Given the description of an element on the screen output the (x, y) to click on. 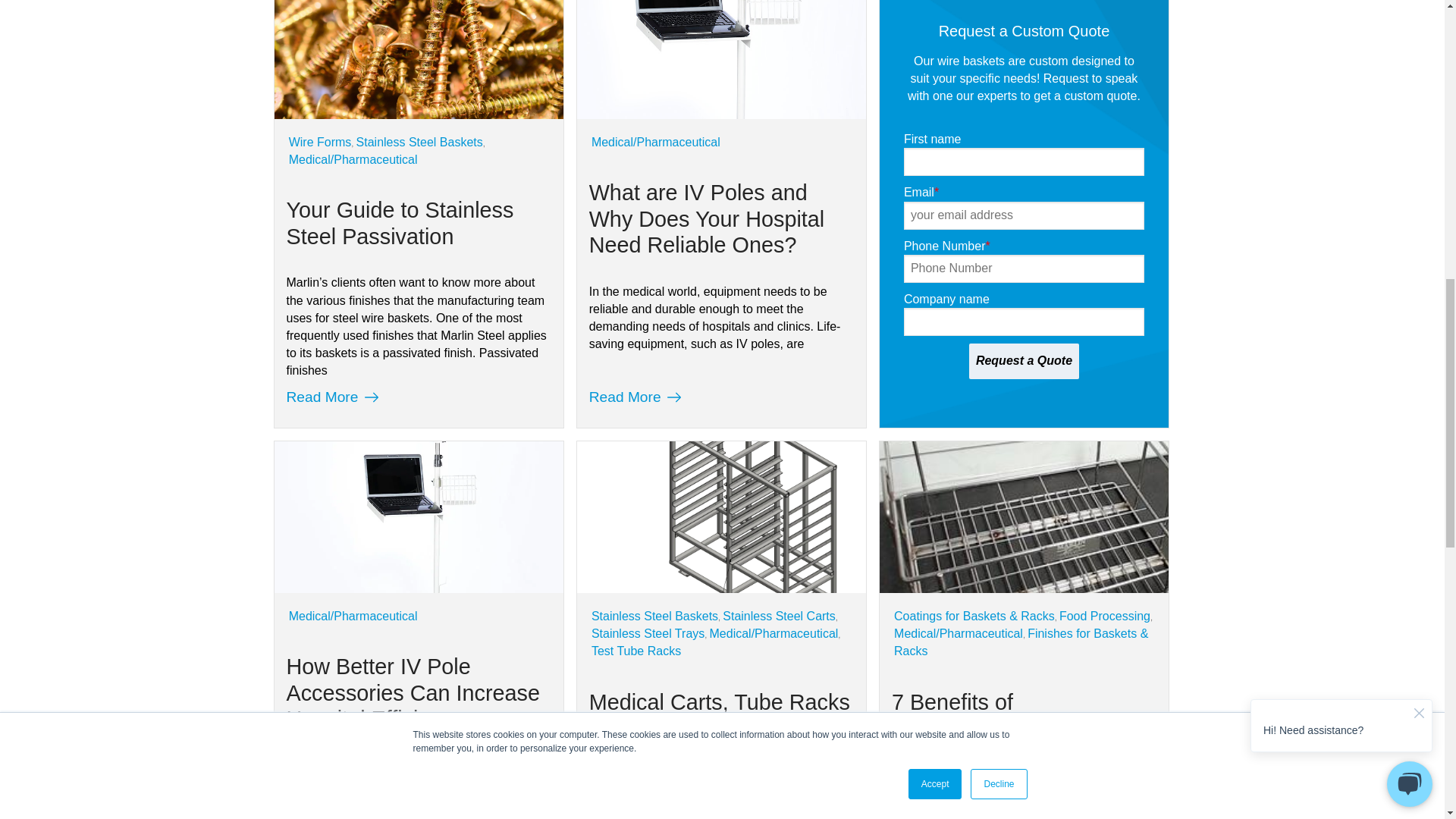
Your Guide to Stainless Steel Passivation (417, 79)
Request a Quote (1023, 361)
